Given the description of an element on the screen output the (x, y) to click on. 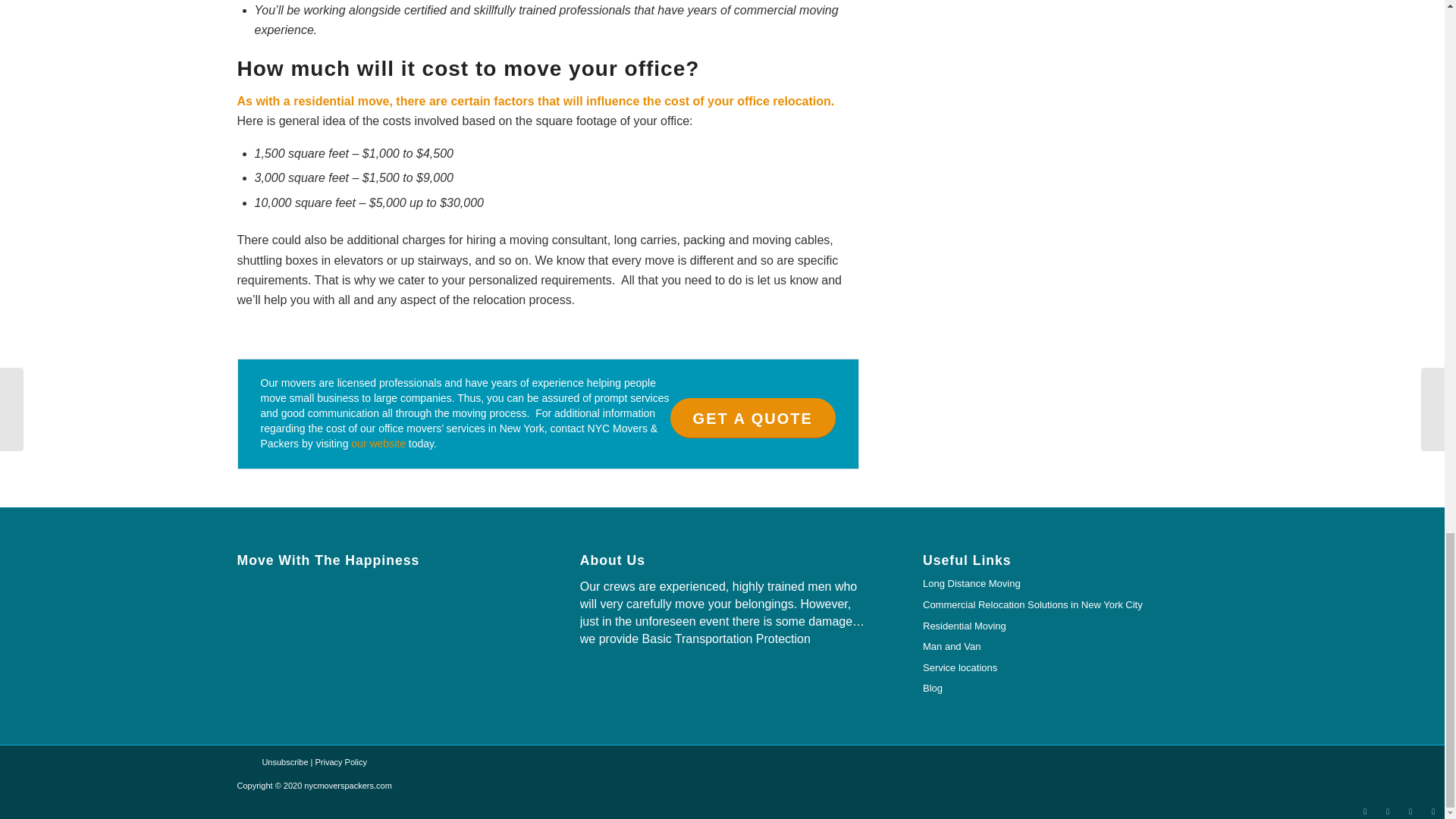
Service locations (1065, 668)
our website (378, 443)
Long Distance Moving (1065, 584)
Privacy Policy (340, 761)
Blog (1065, 689)
Commercial Relocation Solutions in New York City (1065, 605)
Residential Moving (1065, 627)
Unsubscribe (284, 761)
GET A QUOTE (752, 418)
Man and Van (1065, 647)
